Given the description of an element on the screen output the (x, y) to click on. 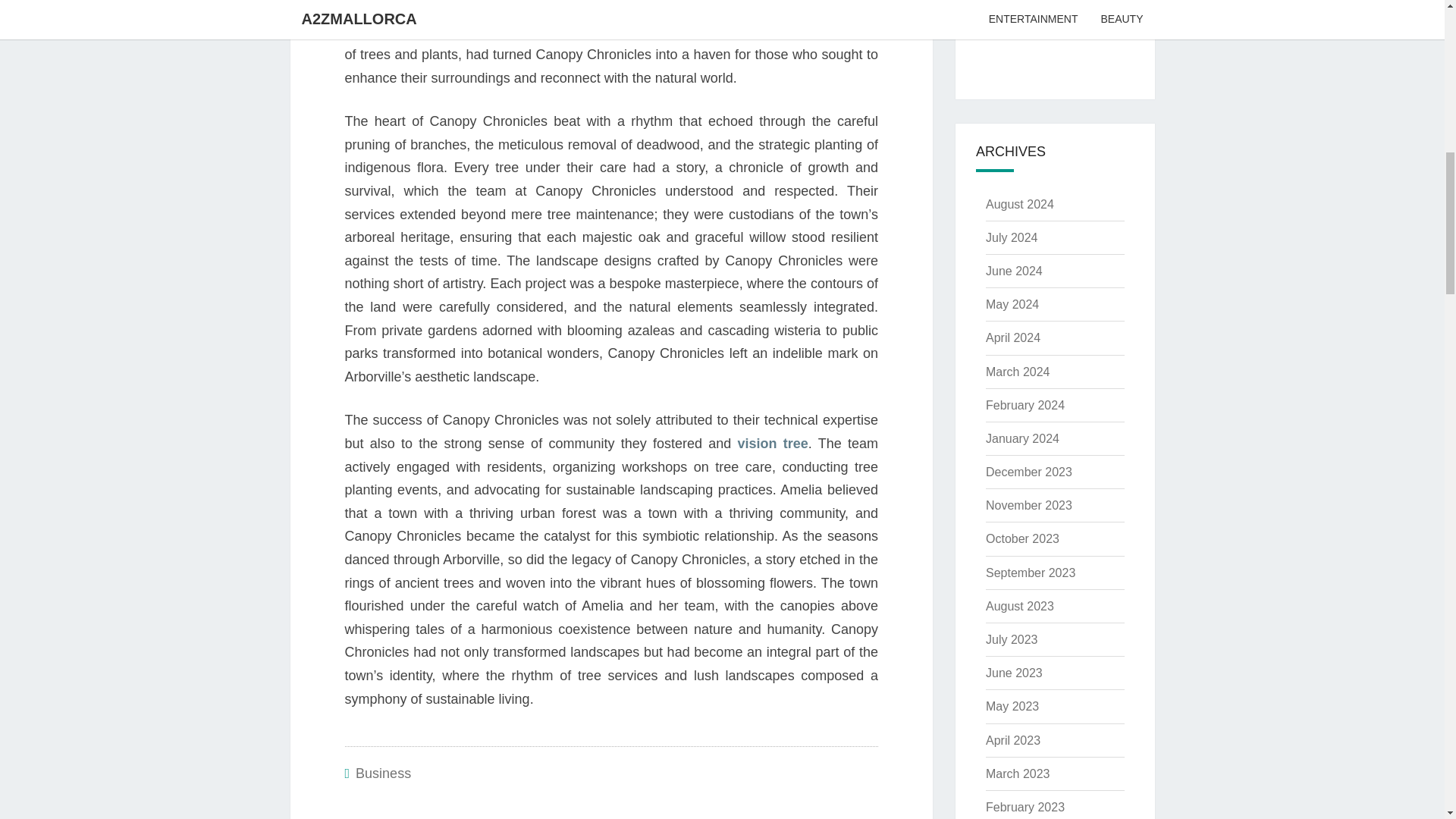
June 2024 (1013, 270)
February 2023 (1024, 807)
July 2024 (1011, 237)
vision tree (772, 443)
September 2023 (1030, 572)
Business (382, 773)
August 2023 (1019, 605)
May 2023 (1012, 706)
October 2023 (1022, 538)
March 2023 (1017, 773)
